Given the description of an element on the screen output the (x, y) to click on. 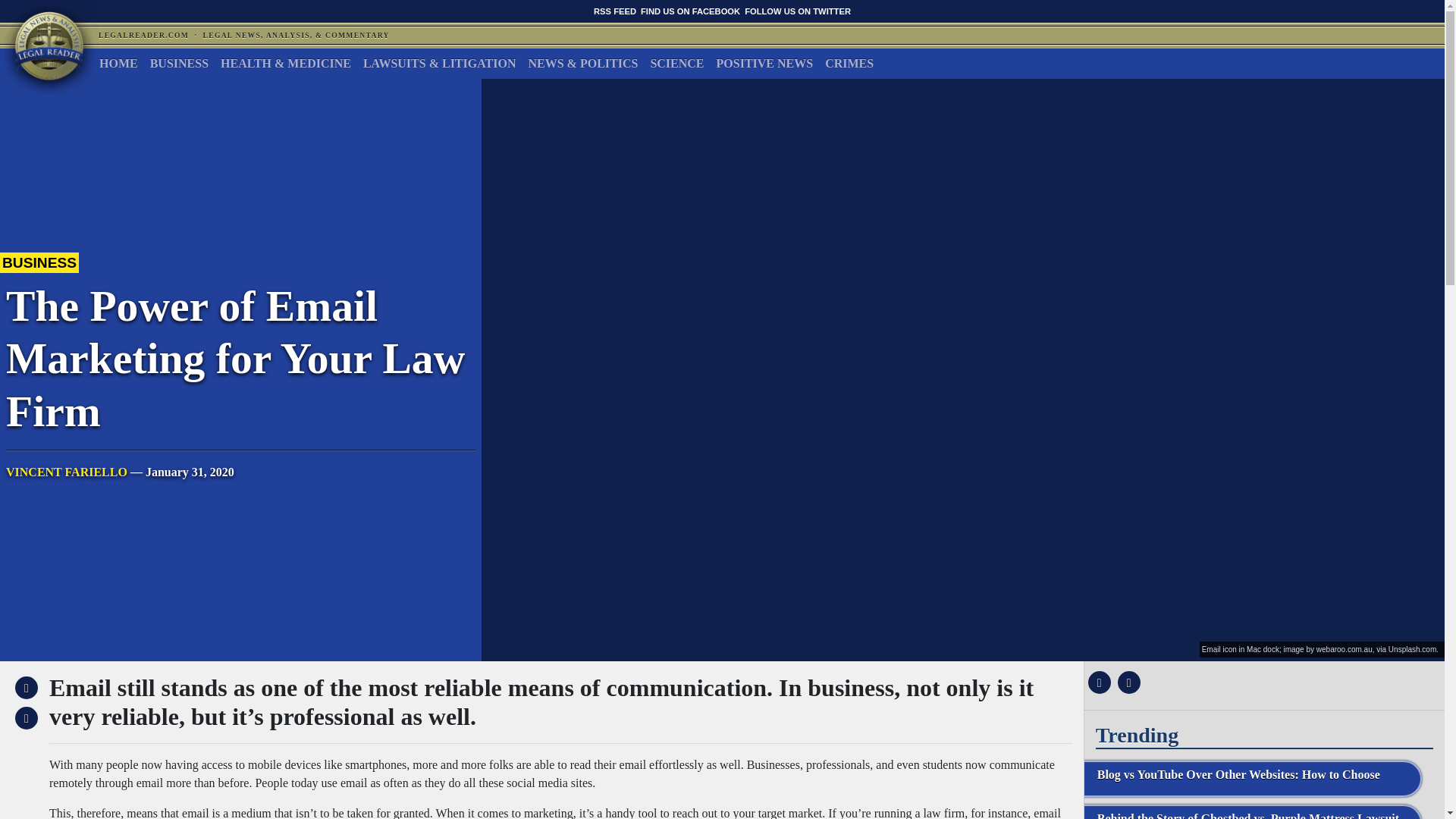
Business (179, 63)
Posts by Vincent Fariello (66, 472)
POSITIVE NEWS (764, 63)
BUSINESS (179, 63)
SCIENCE (676, 63)
Positive News (764, 63)
CRIMES (848, 63)
Share on facebook (1097, 682)
FIND US ON FACEBOOK (689, 10)
Share on twitter (1126, 682)
Crimes (848, 63)
RSS FEED (615, 10)
Home (118, 63)
VINCENT FARIELLO (66, 472)
HOME (118, 63)
